Given the description of an element on the screen output the (x, y) to click on. 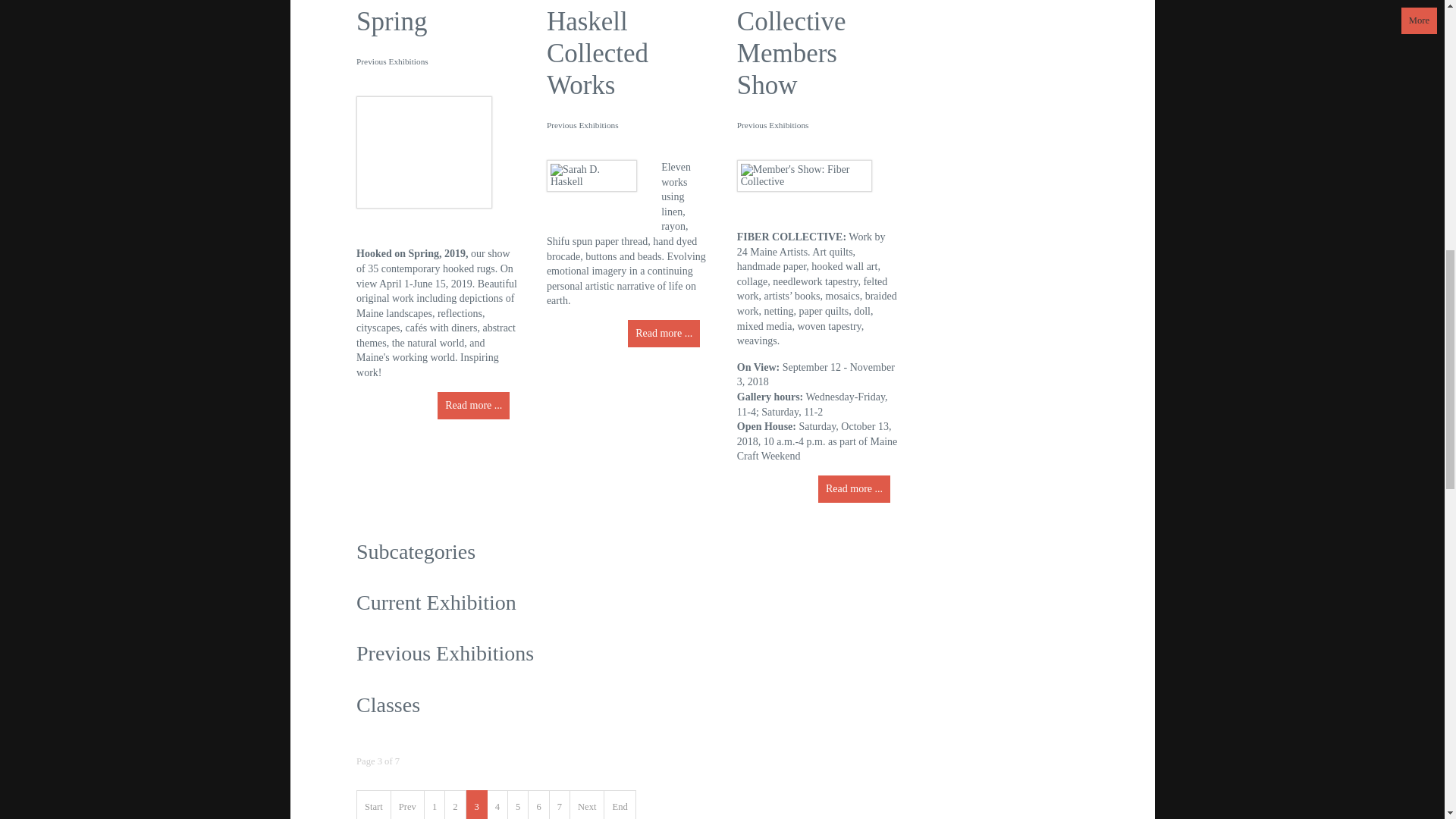
Category:  (392, 61)
Prev (408, 804)
5 (518, 804)
Hooked on Spring (415, 18)
Sarah D. Haskell Collected Works (597, 49)
Category:  (582, 125)
Start (373, 804)
Previous Exhibitions (392, 61)
2 (455, 804)
1 (435, 804)
Category:  (772, 125)
Fiber Collective Members Show (790, 49)
Hooked on Spring (415, 18)
4 (497, 804)
